Given the description of an element on the screen output the (x, y) to click on. 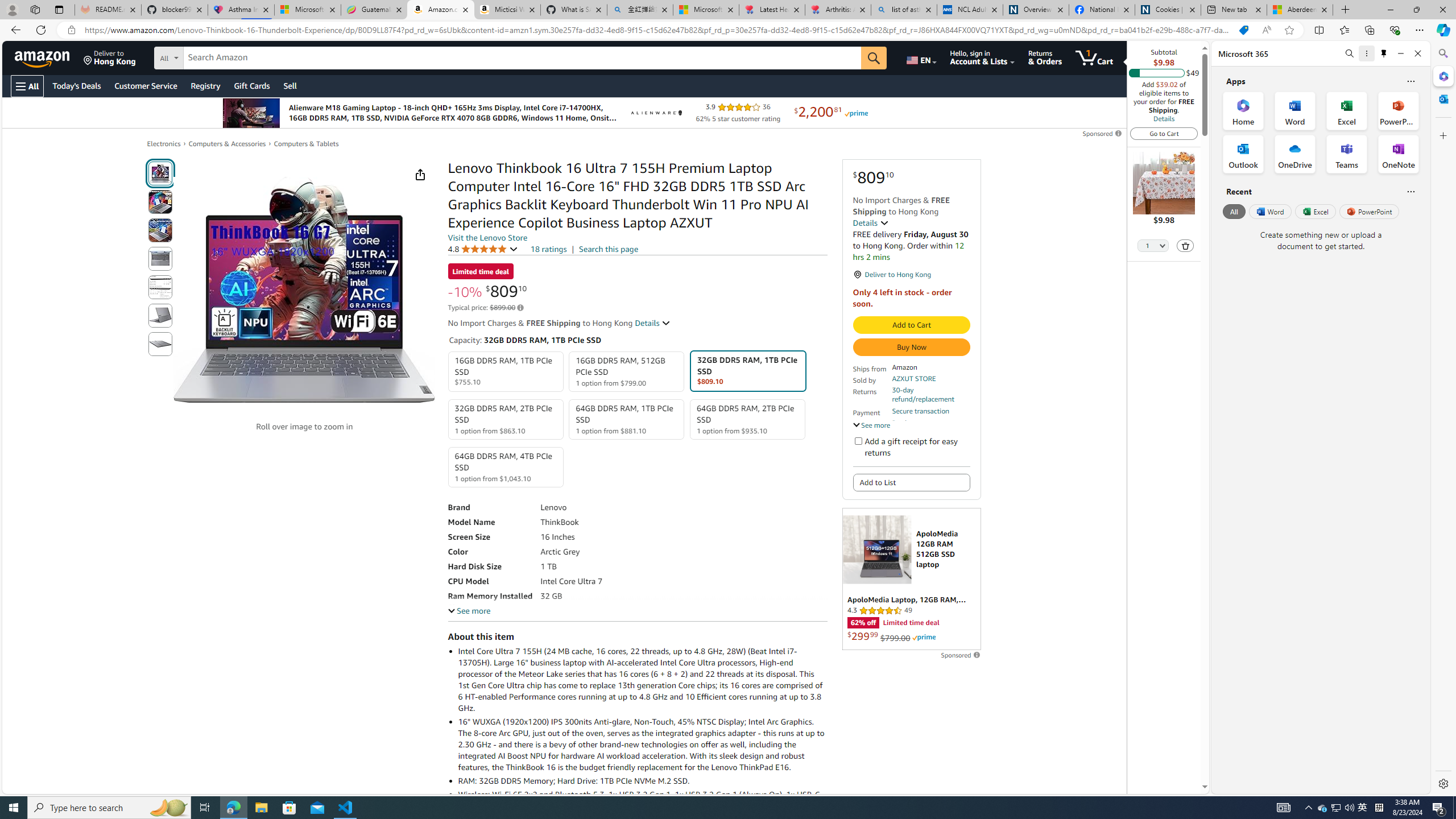
RAM: 32GB DDR5 Memory; Hard Drive: 1TB PCIe NVMe M.2 SSD. (642, 780)
Details  (652, 322)
Go to Cart (1163, 133)
Registry (205, 85)
Search this page (608, 248)
Open Menu (26, 86)
Prime (923, 637)
16GB DDR5 RAM, 1TB PCIe SSD $755.10 (505, 371)
